Given the description of an element on the screen output the (x, y) to click on. 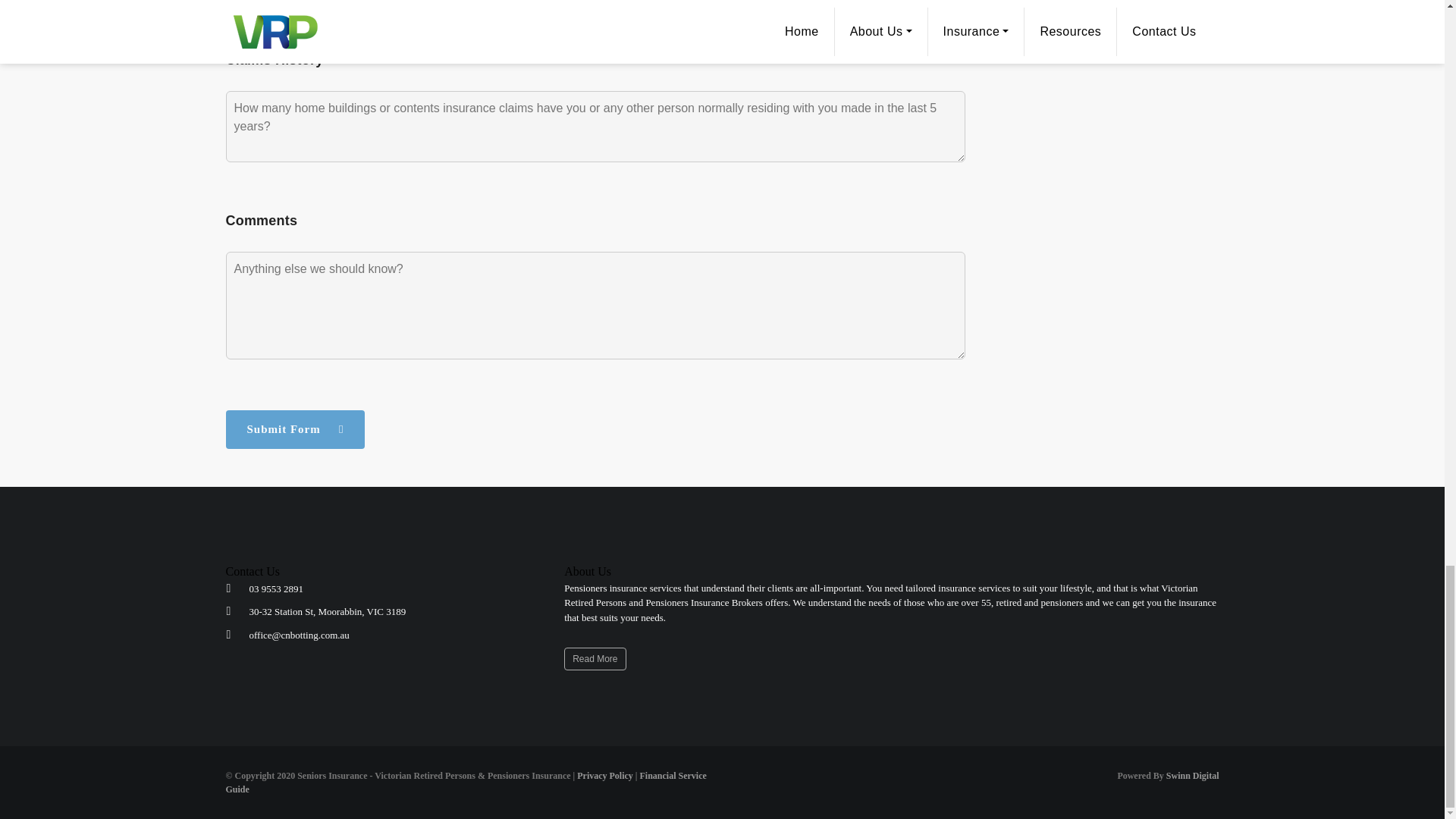
Privacy Policy (604, 775)
Submit Form   (295, 429)
Swinn Digital (1193, 775)
Read More (595, 658)
on (230, 1)
Financial Service Guide (465, 782)
03 9553 2891 (275, 587)
